Given the description of an element on the screen output the (x, y) to click on. 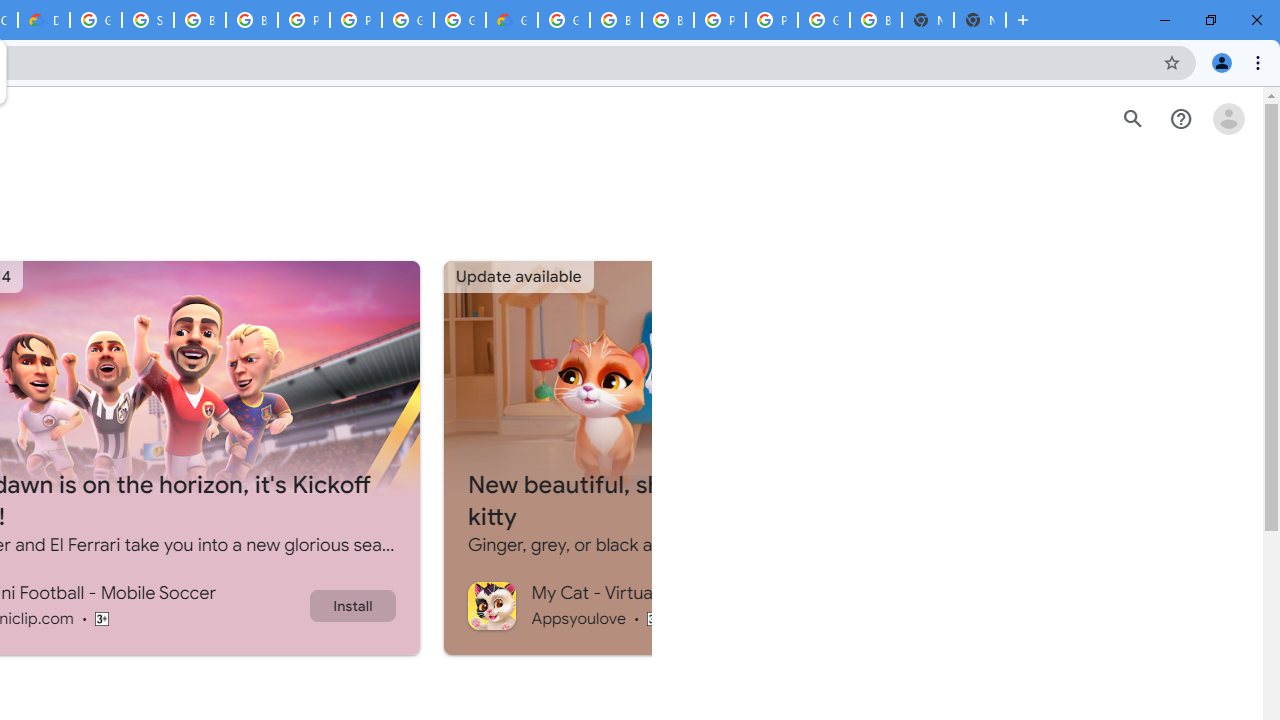
Google Cloud Platform (407, 20)
